Given the description of an element on the screen output the (x, y) to click on. 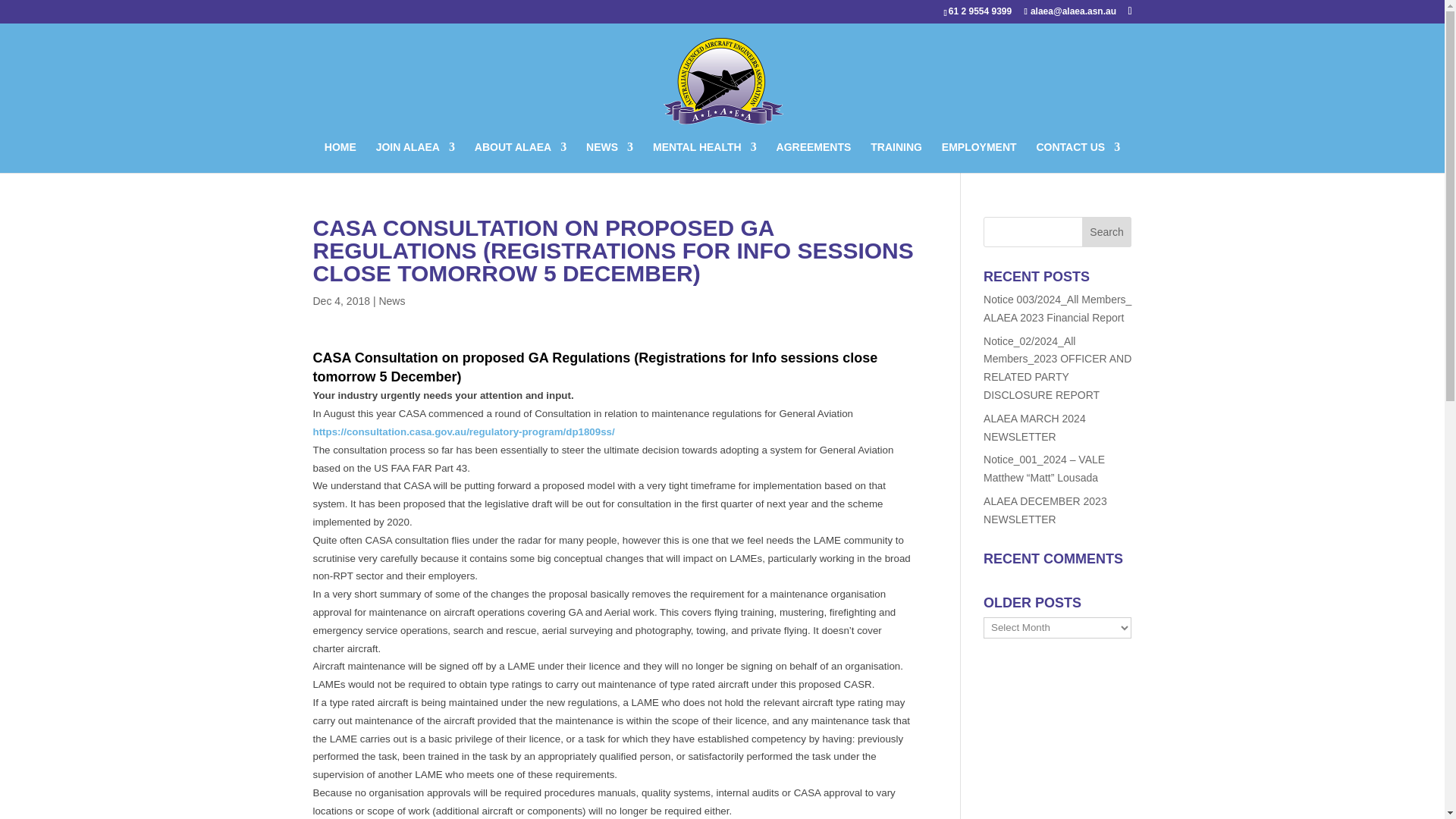
ABOUT ALAEA (520, 156)
NEWS (609, 156)
AGREEMENTS (813, 156)
MENTAL HEALTH (704, 156)
JOIN ALAEA (414, 156)
61 2 9554 9399 (982, 10)
Search (1106, 232)
HOME (340, 156)
